Given the description of an element on the screen output the (x, y) to click on. 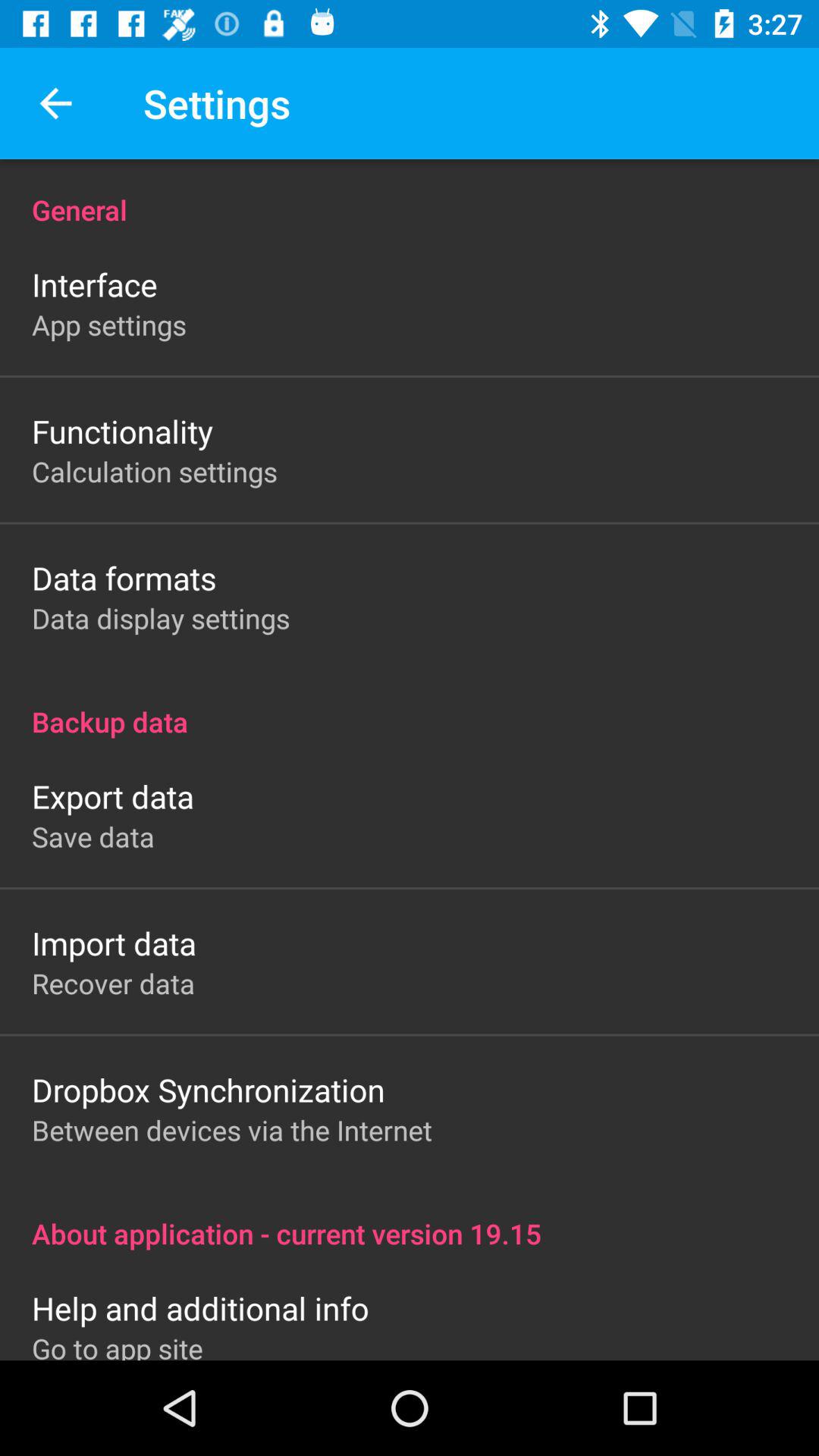
select icon below between devices via item (409, 1217)
